Given the description of an element on the screen output the (x, y) to click on. 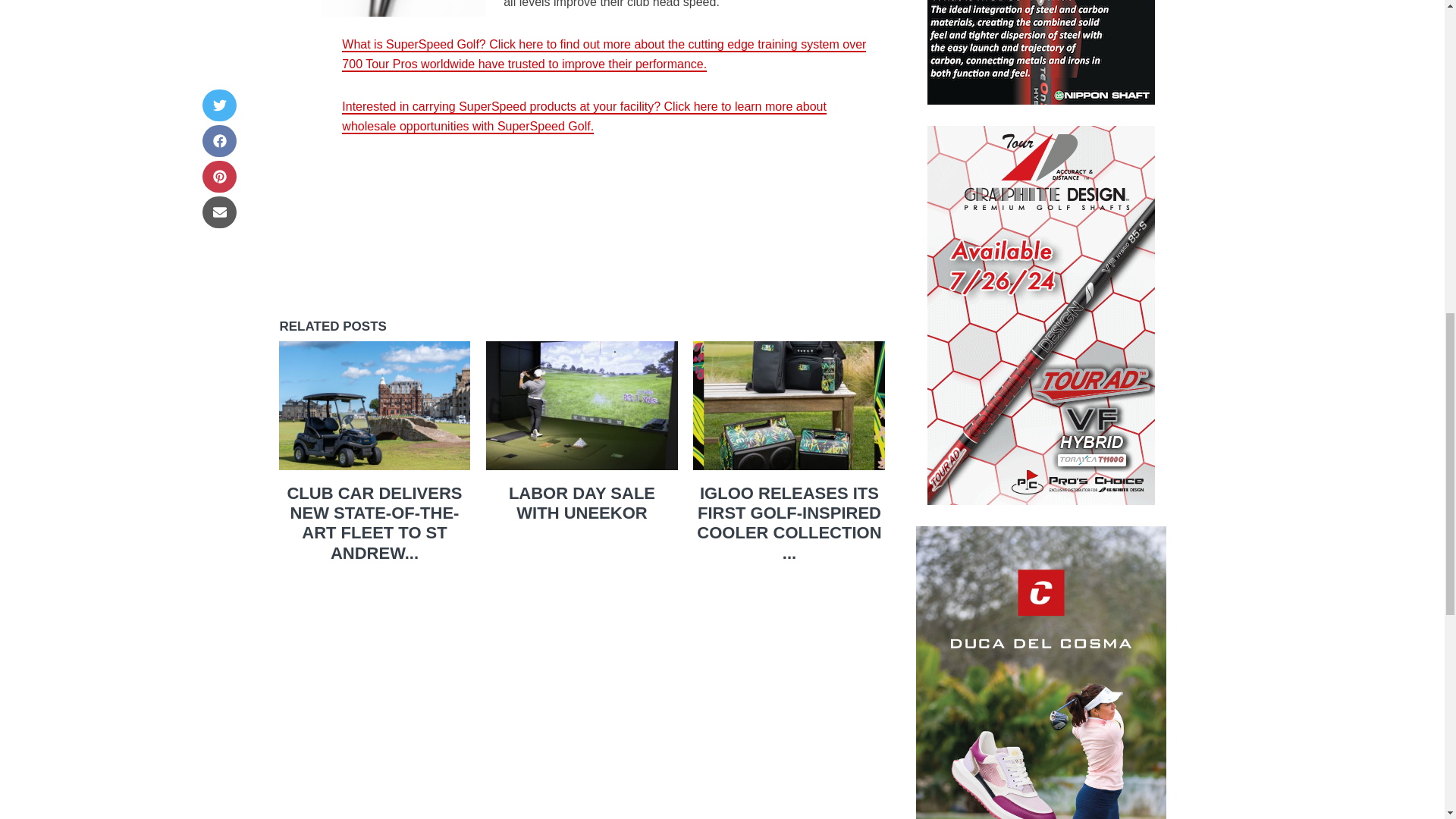
CLUB CAR DELIVERS NEW STATE-OF-THE-ART FLEET TO ST ANDREW... (373, 523)
Permanent Link toLABOR DAY SALE WITH UNEEKOR (581, 503)
IGLOO RELEASES ITS FIRST GOLF-INSPIRED COOLER COLLECTION ... (788, 523)
LABOR DAY SALE WITH UNEEKOR (581, 503)
